Given the description of an element on the screen output the (x, y) to click on. 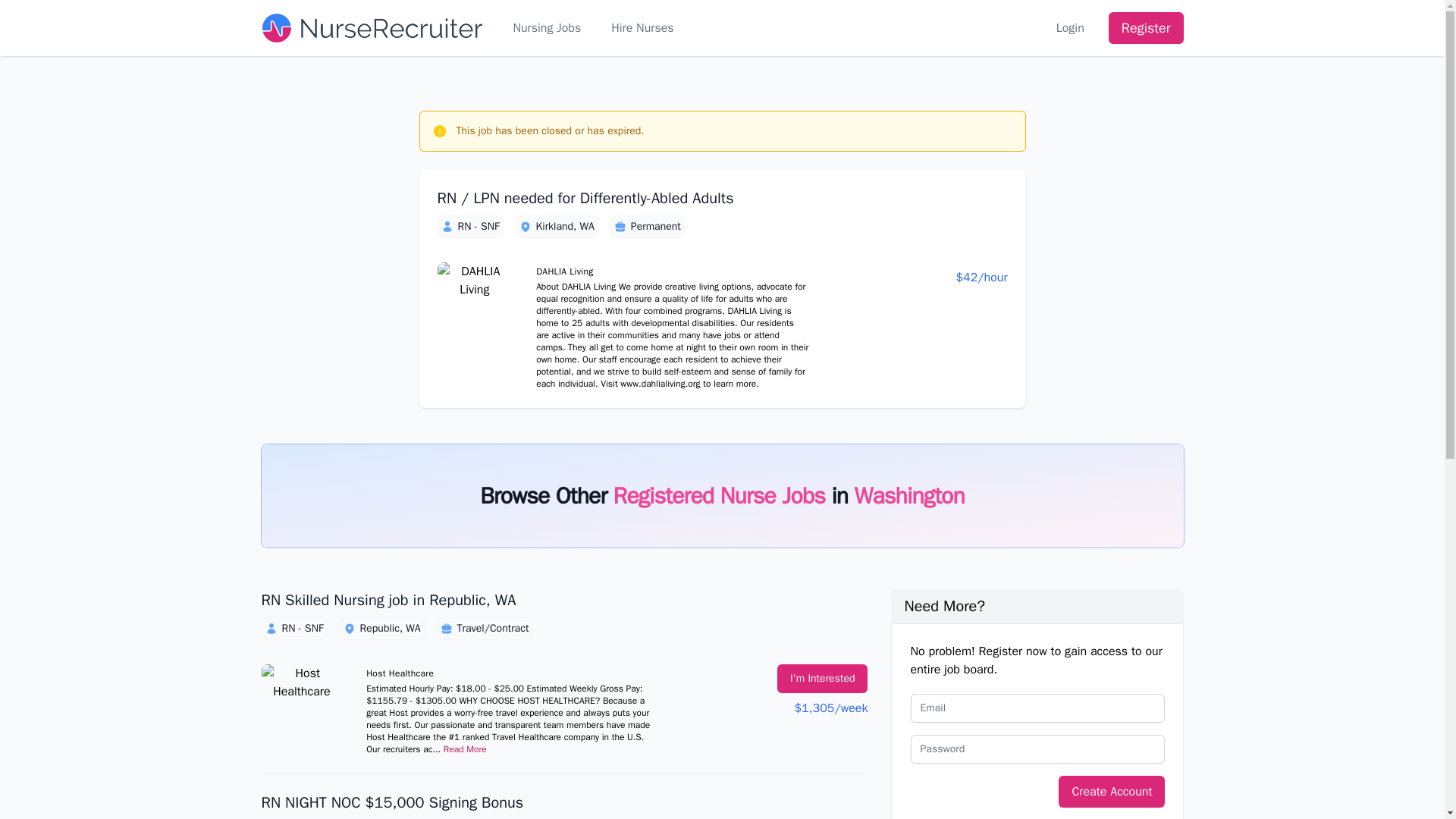
Create Account (1111, 791)
Read More (465, 748)
Register (1145, 28)
Host Healthcare (301, 706)
Login (1070, 27)
I'm Interested (822, 678)
Nursing Jobs (546, 27)
Hire Nurses (641, 27)
